Given the description of an element on the screen output the (x, y) to click on. 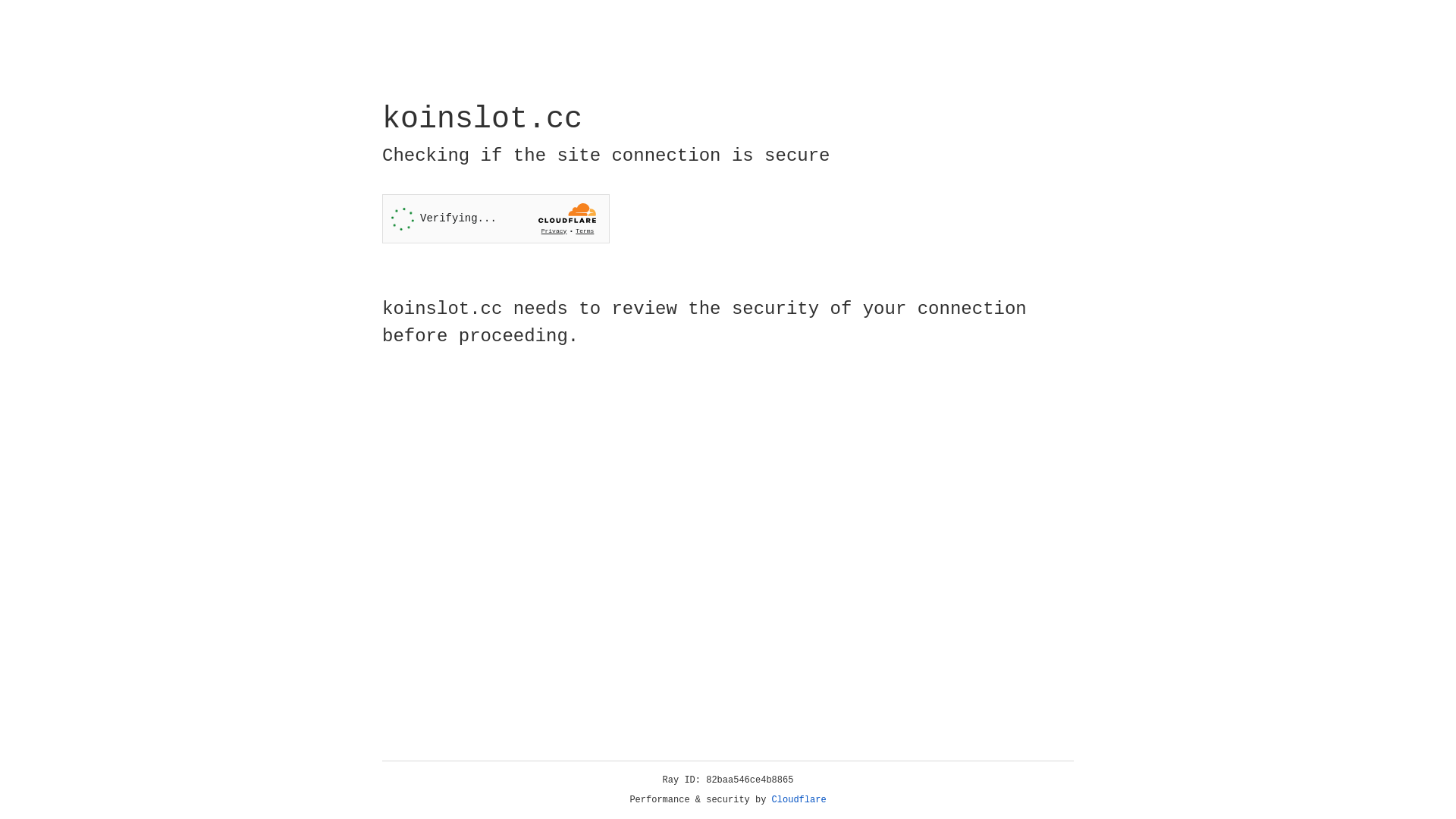
Cloudflare Element type: text (798, 799)
Widget containing a Cloudflare security challenge Element type: hover (495, 218)
